Given the description of an element on the screen output the (x, y) to click on. 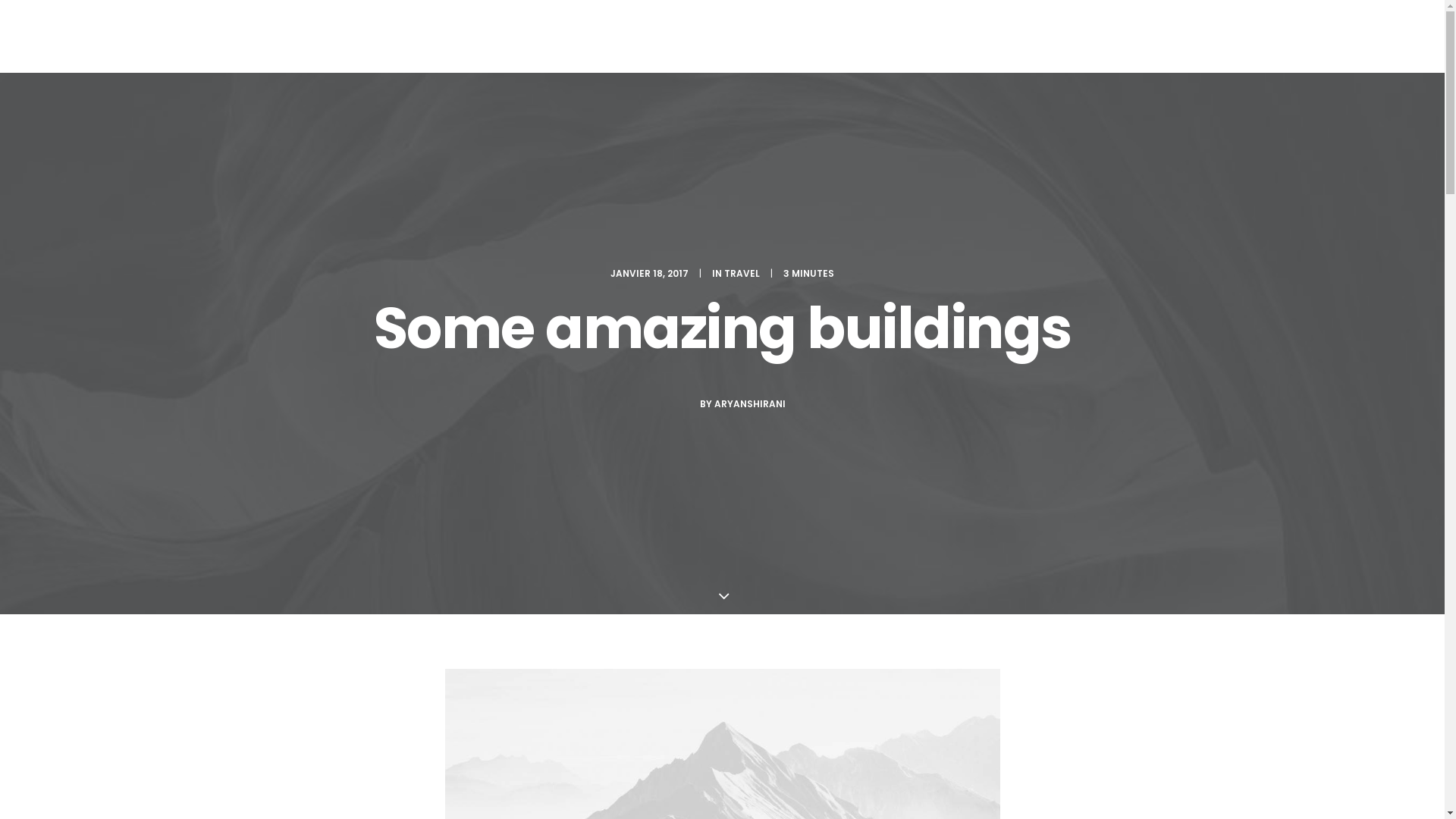
ARYANSHIRANI Element type: text (749, 403)
BONS
CADEAUX Element type: text (878, 40)
MENUS
SUR COMMANDE Element type: text (715, 40)
CARTE
DES VINS Element type: text (805, 40)
MENU CHASSE Element type: text (362, 36)
TRAVEL Element type: text (741, 272)
GALERIE Element type: text (948, 36)
NOTRE CARTE Element type: text (613, 36)
LES MENUS
DU JOUR Element type: text (451, 40)
